Given the description of an element on the screen output the (x, y) to click on. 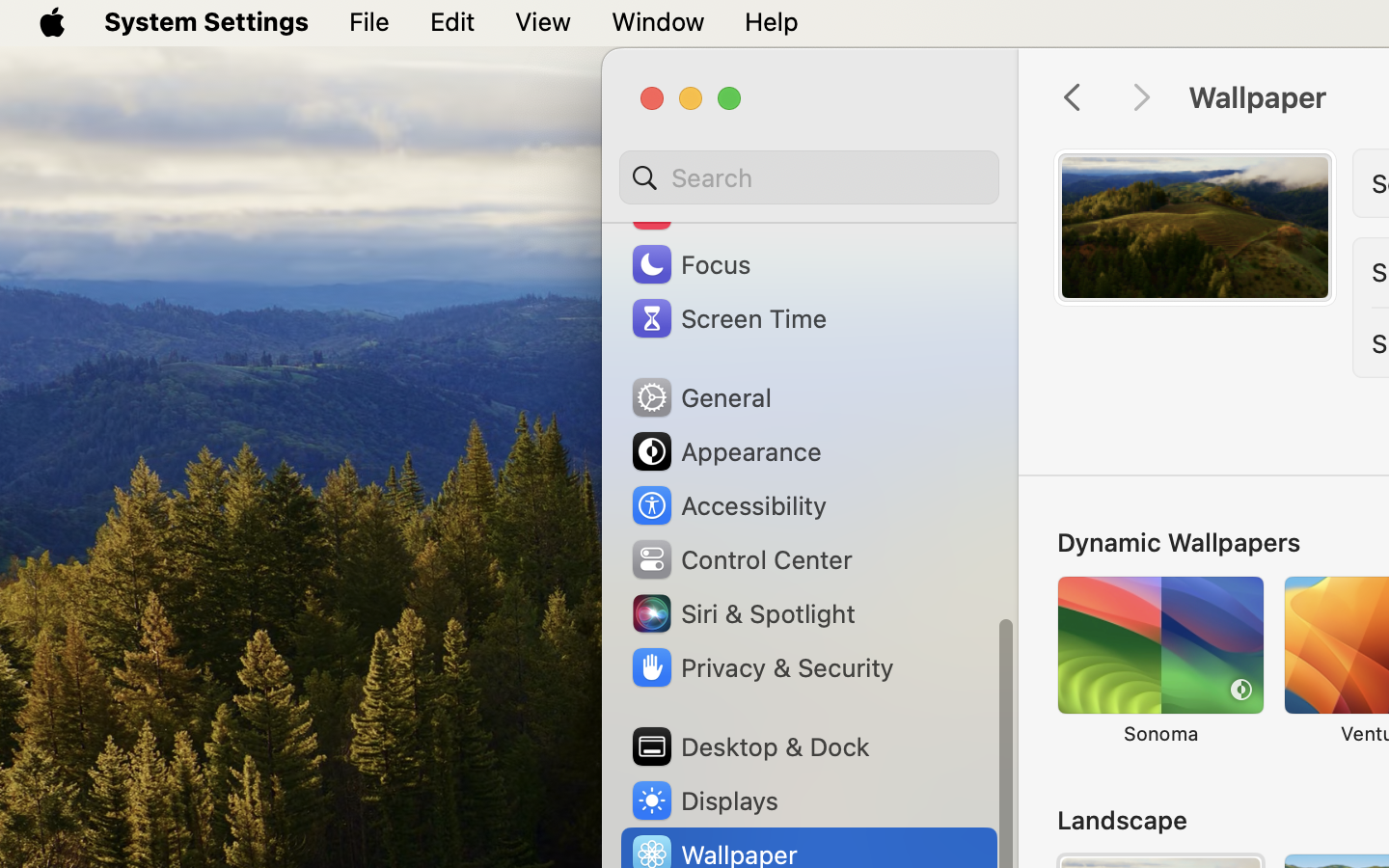
Landscape Element type: AXStaticText (1122, 819)
Appearance Element type: AXStaticText (724, 451)
Sound Element type: AXStaticText (692, 210)
